Given the description of an element on the screen output the (x, y) to click on. 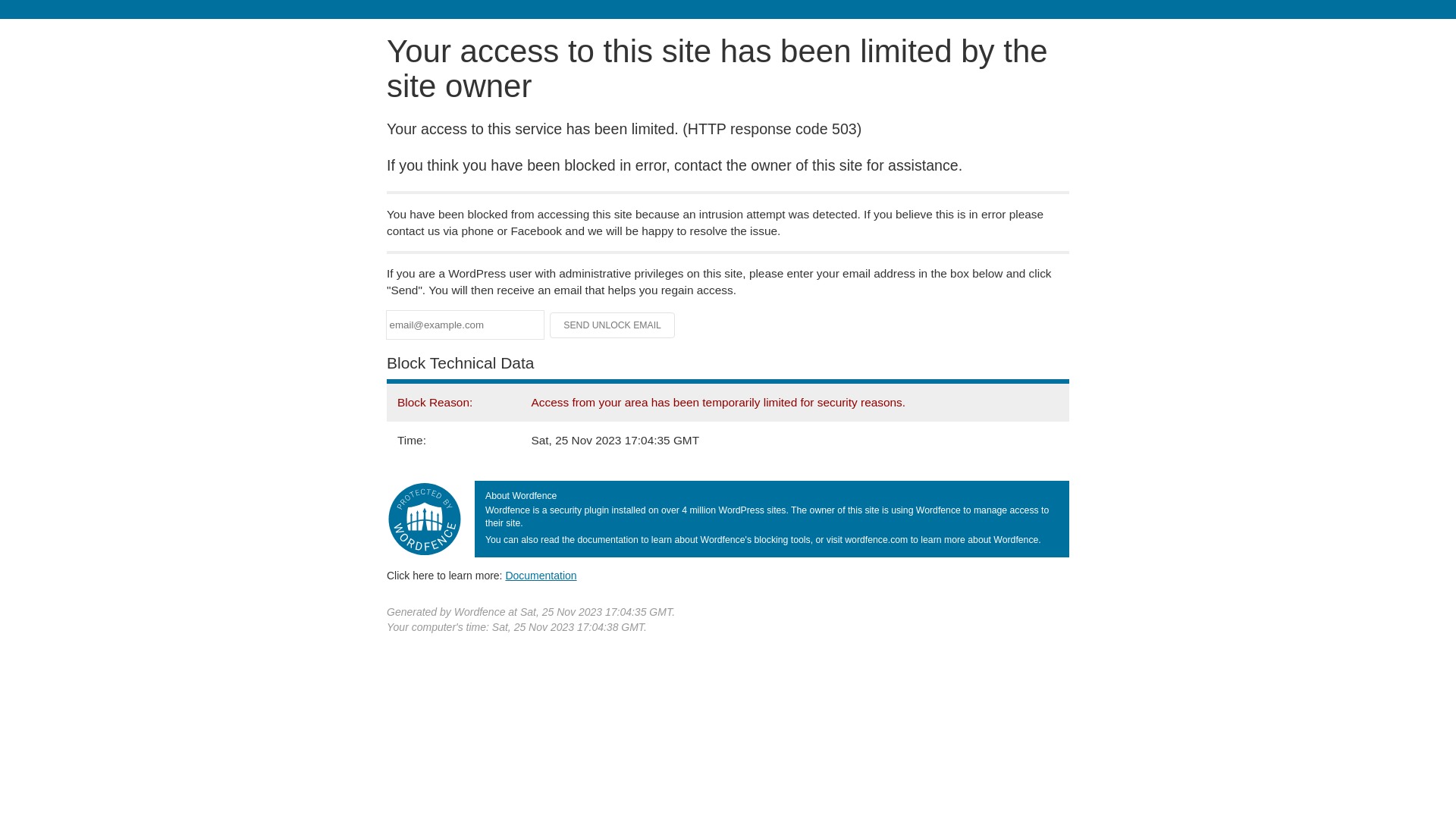
Send Unlock Email Element type: text (612, 325)
Documentation Element type: text (540, 575)
